Given the description of an element on the screen output the (x, y) to click on. 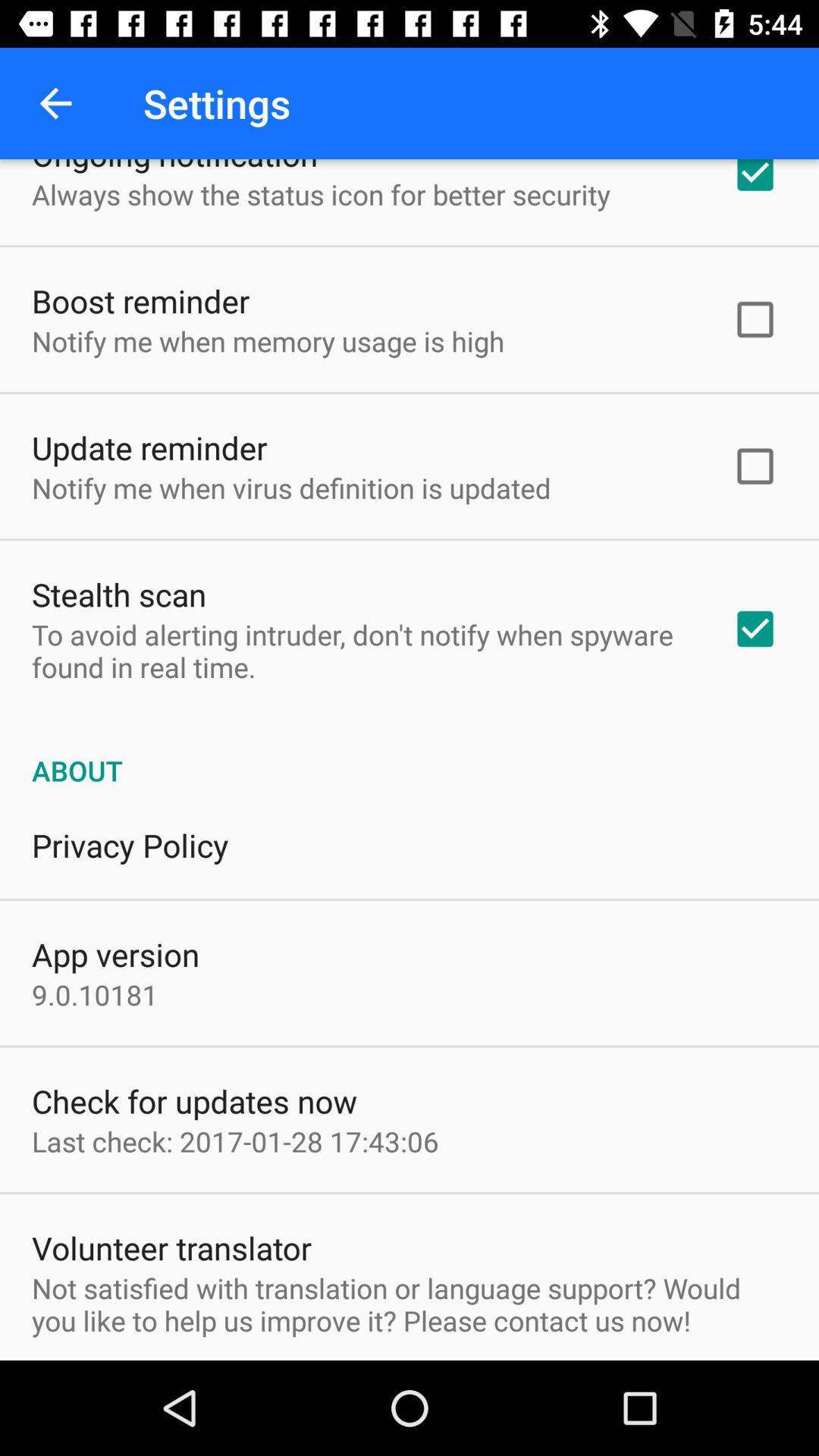
turn off the icon below the ongoing notification (320, 194)
